Given the description of an element on the screen output the (x, y) to click on. 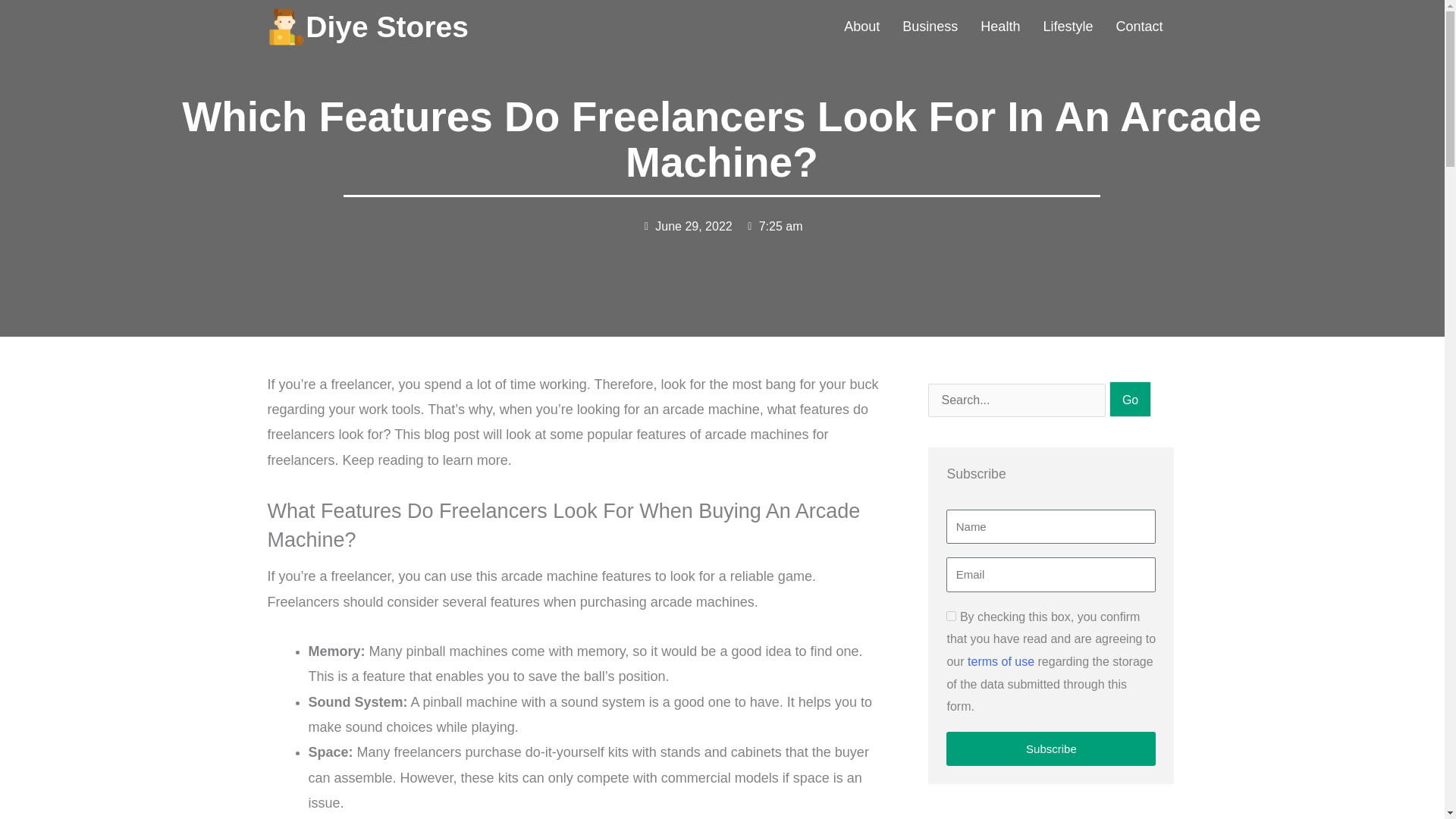
Lifestyle (1066, 26)
Contact (1138, 26)
terms of use (1000, 661)
Subscribe (1051, 748)
Health (999, 26)
Business (930, 26)
on (951, 615)
Diye Stores (386, 26)
Go (1130, 399)
About (861, 26)
